Given the description of an element on the screen output the (x, y) to click on. 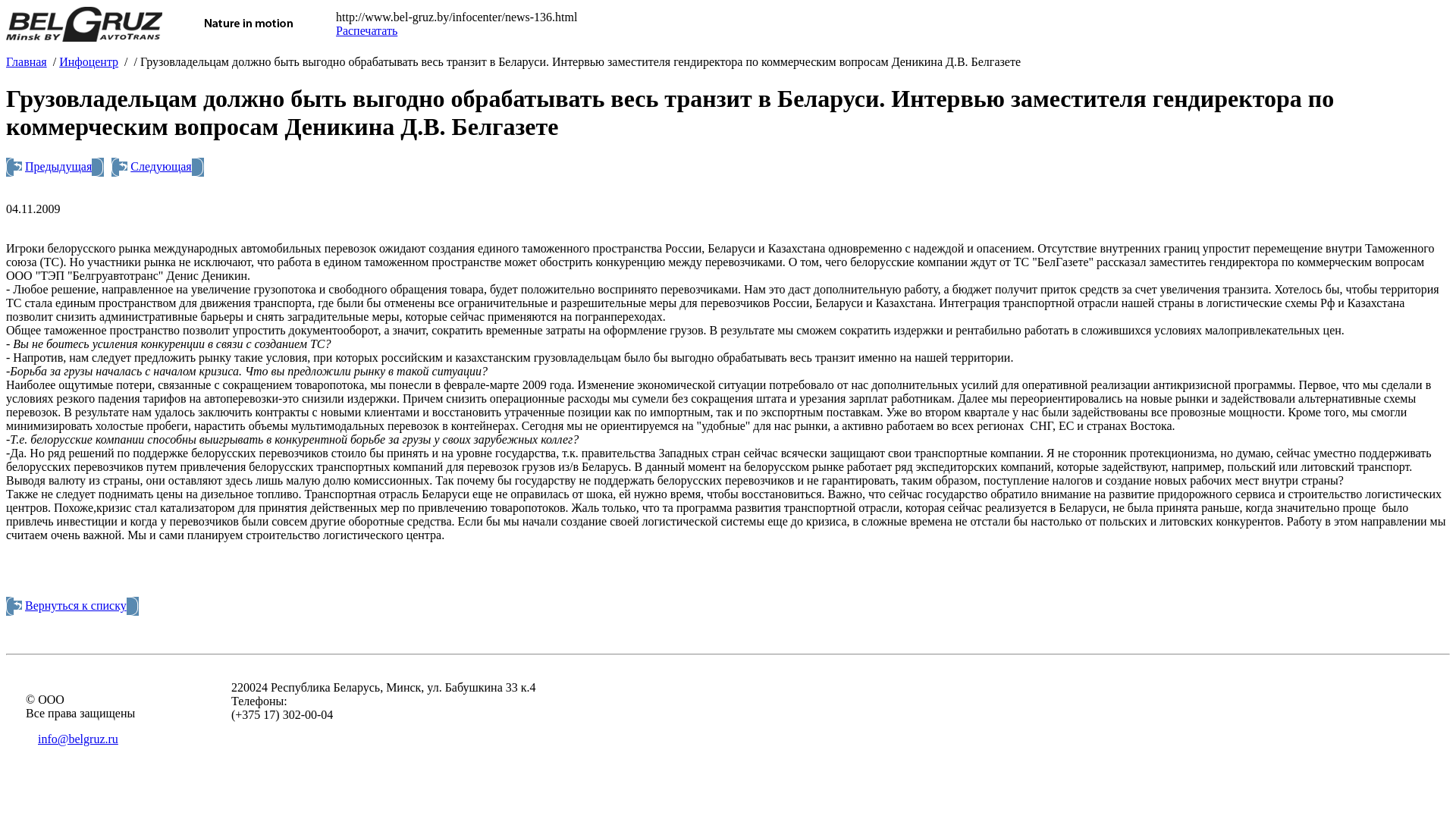
info@belgruz.ru Element type: text (77, 738)
